Given the description of an element on the screen output the (x, y) to click on. 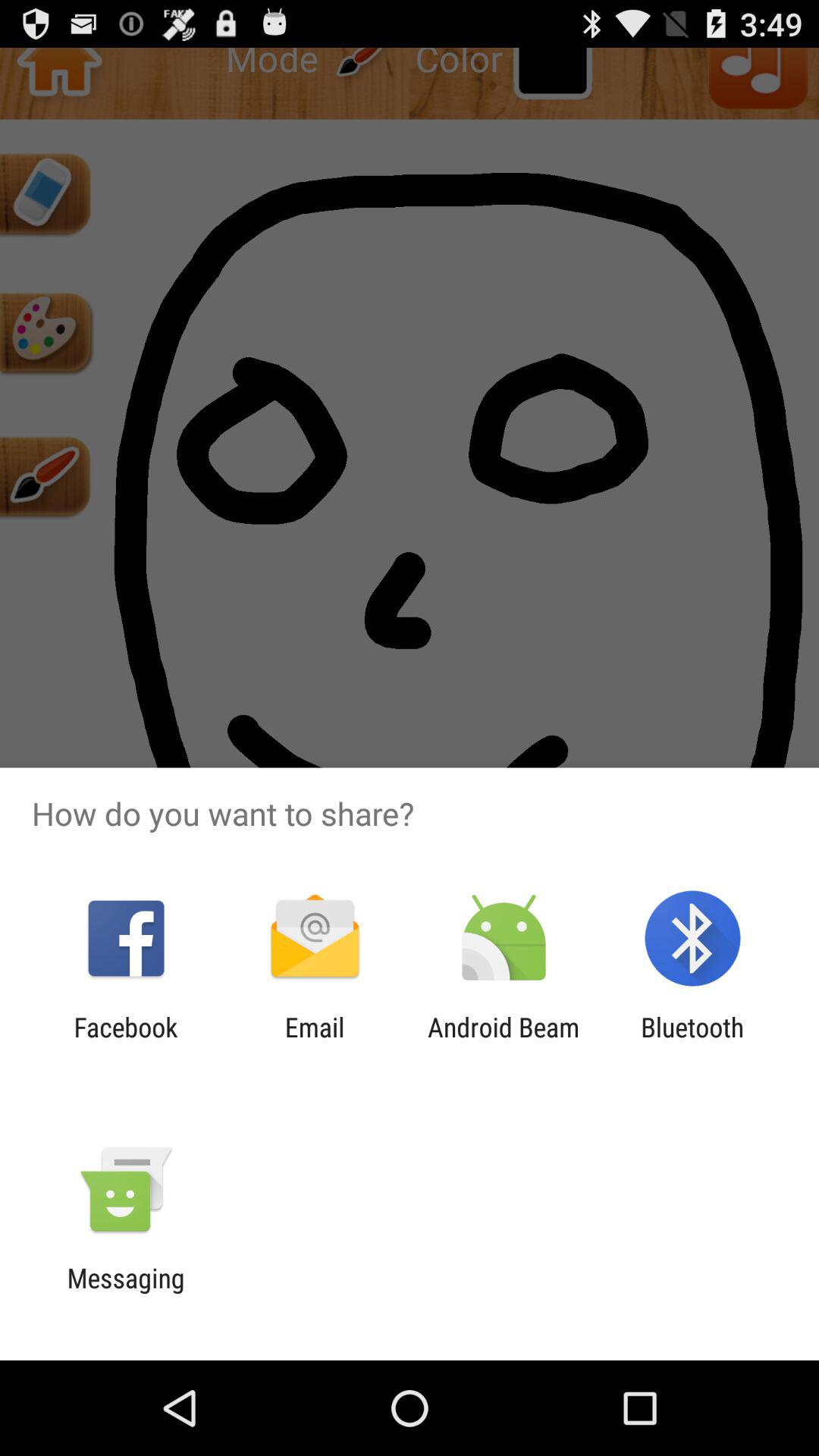
turn off app at the bottom right corner (691, 1042)
